Given the description of an element on the screen output the (x, y) to click on. 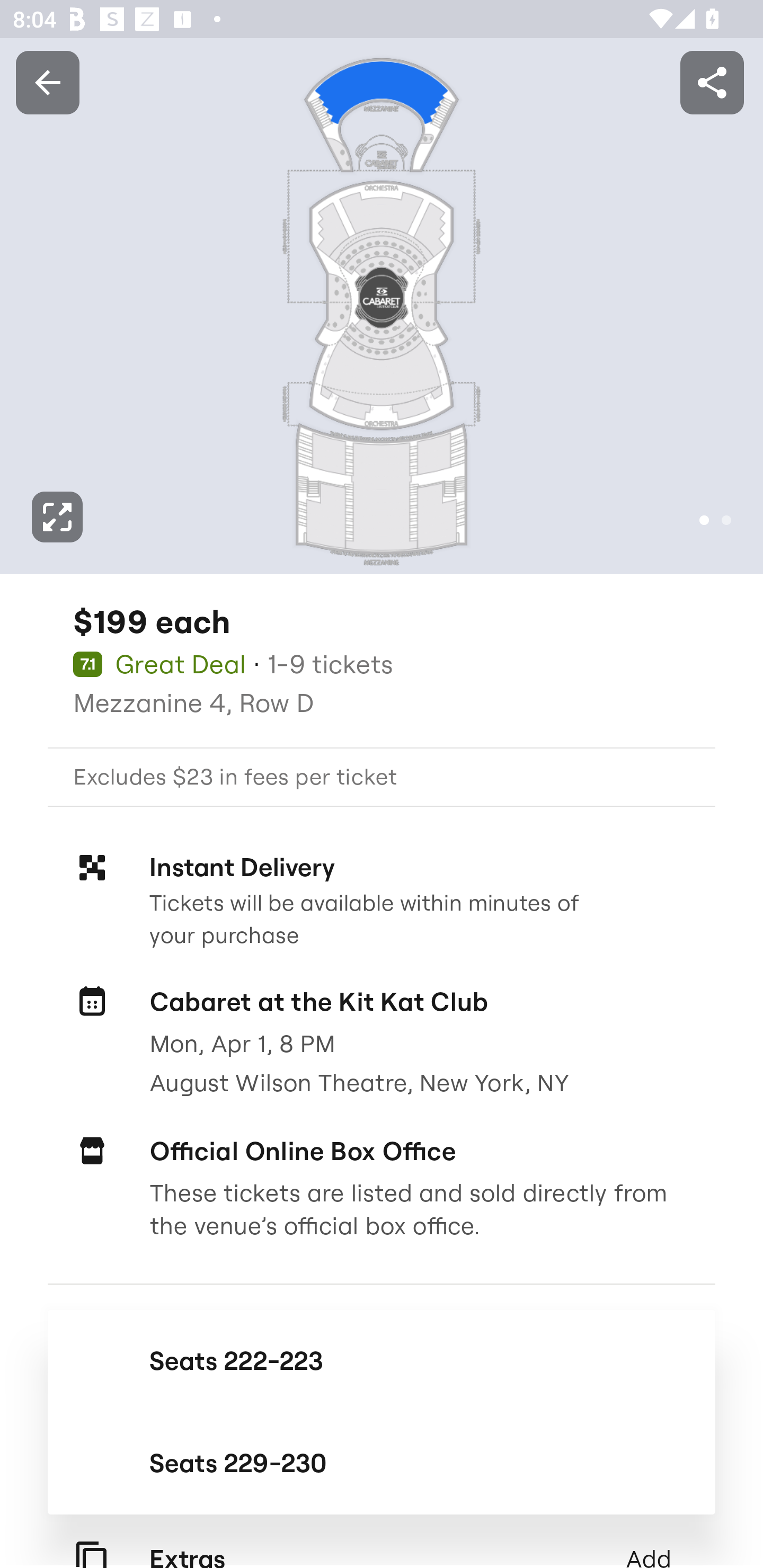
Seats 222-223 (381, 1360)
Seats 229-230 (381, 1463)
